Given the description of an element on the screen output the (x, y) to click on. 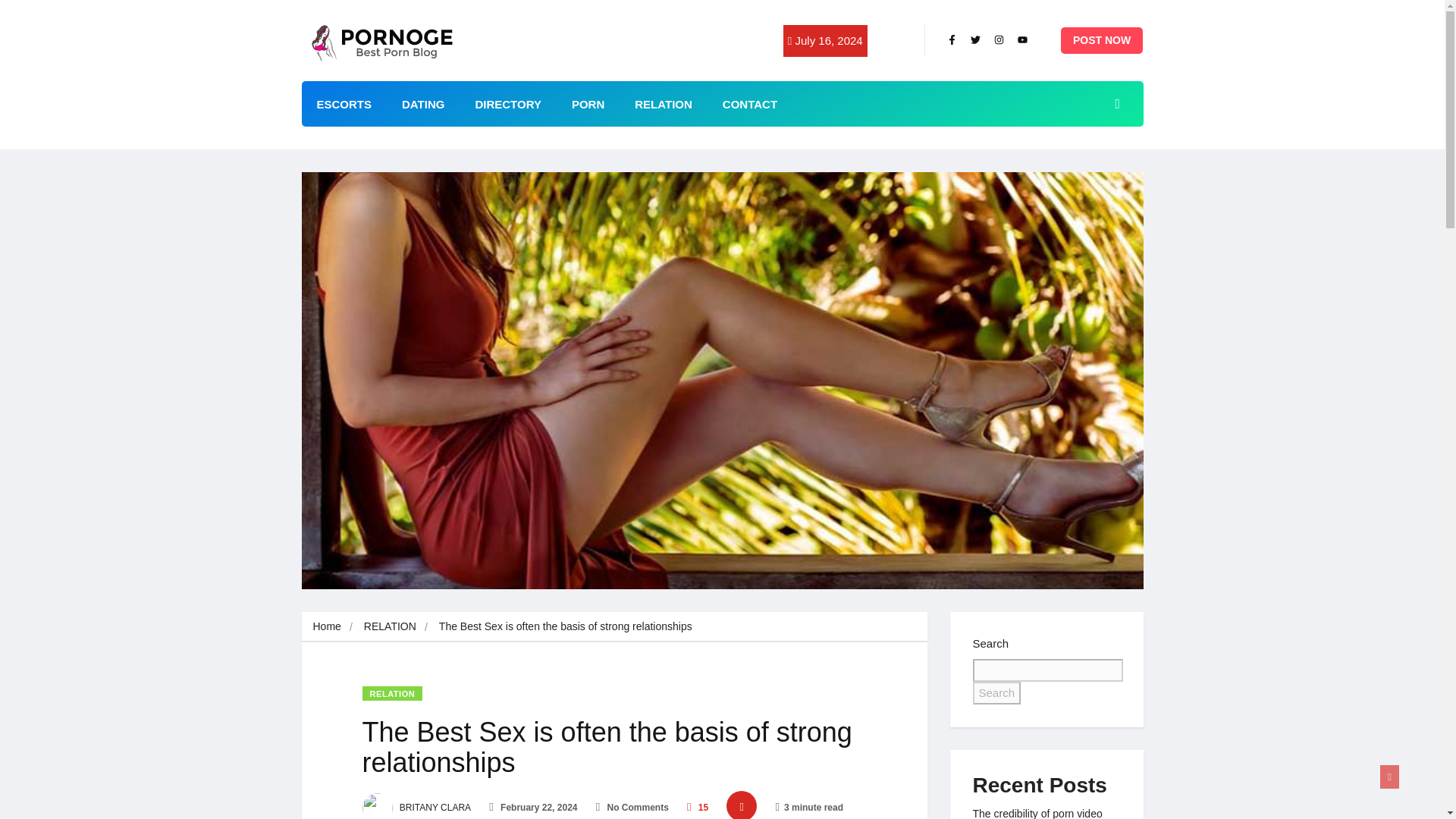
DATING (423, 103)
DIRECTORY (508, 103)
RELATION (390, 625)
Home (326, 625)
BRITANY CLARA (416, 807)
POST NOW (1101, 40)
PORN (588, 103)
Back to Top (1389, 776)
ESCORTS (344, 103)
RELATION (392, 693)
RELATION (663, 103)
CONTACT (749, 103)
